Given the description of an element on the screen output the (x, y) to click on. 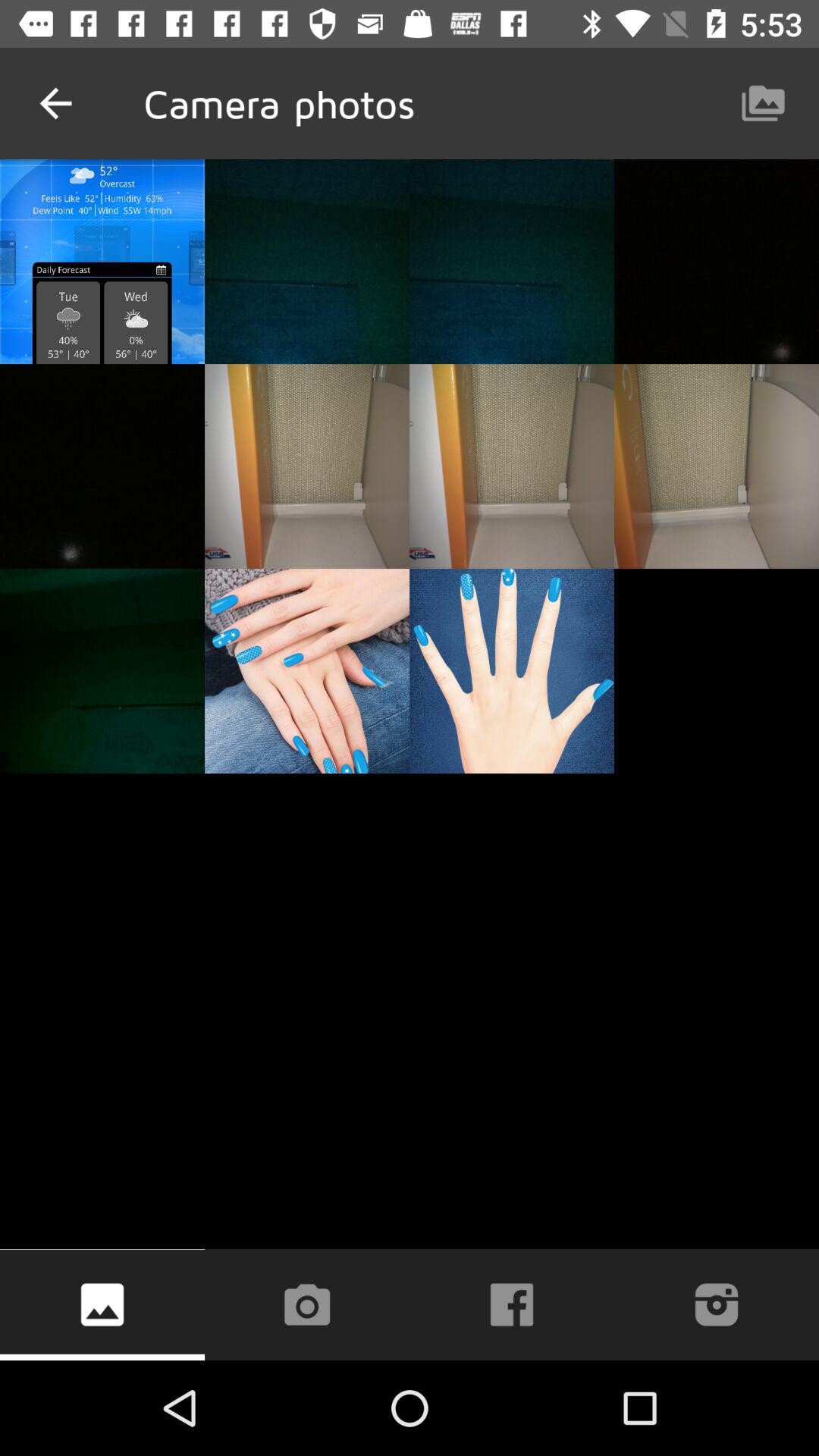
click item at the bottom left corner (102, 1304)
